Given the description of an element on the screen output the (x, y) to click on. 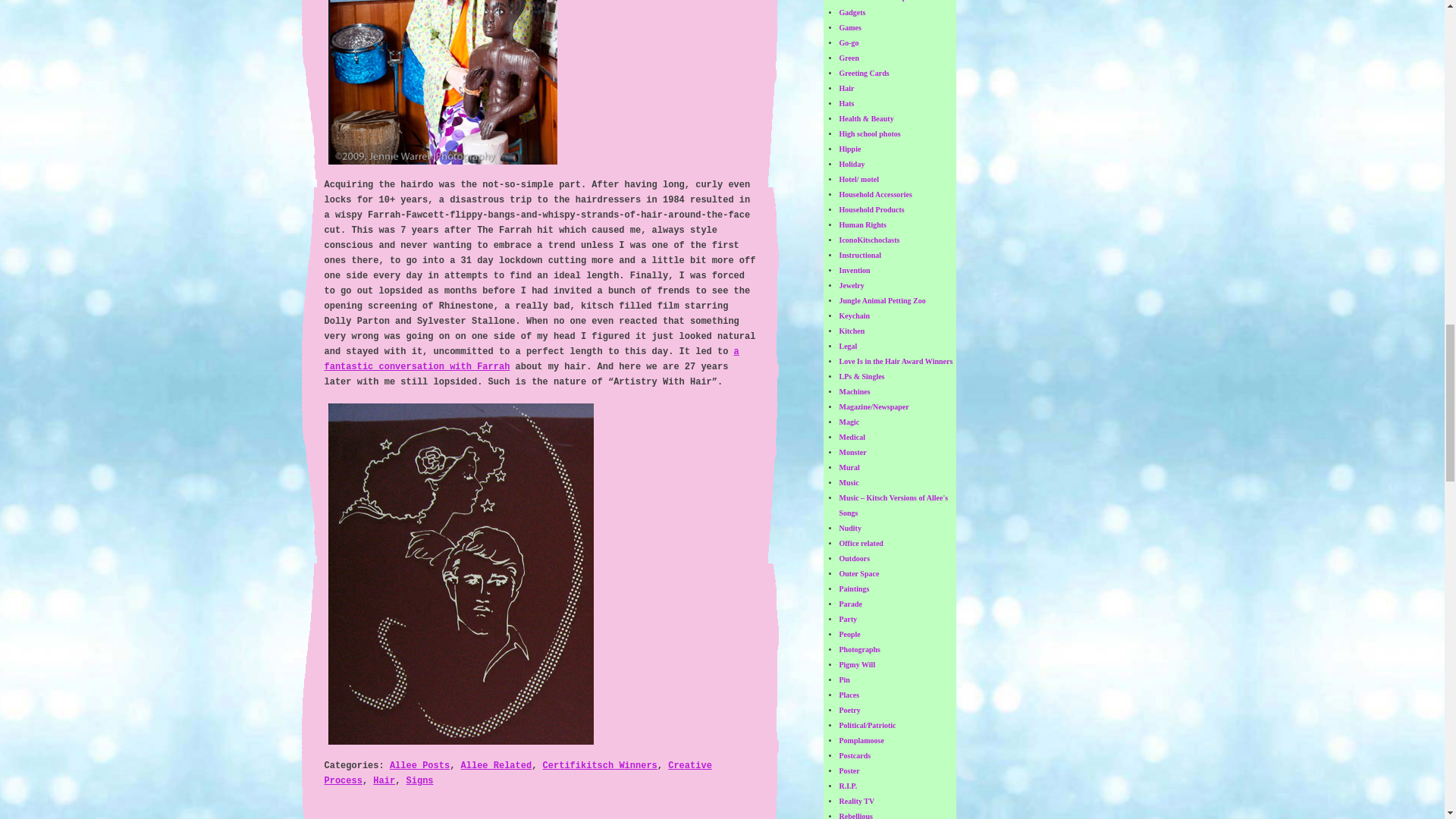
artistry-with-hair-crop (461, 573)
aw w statue37 (443, 82)
